Given the description of an element on the screen output the (x, y) to click on. 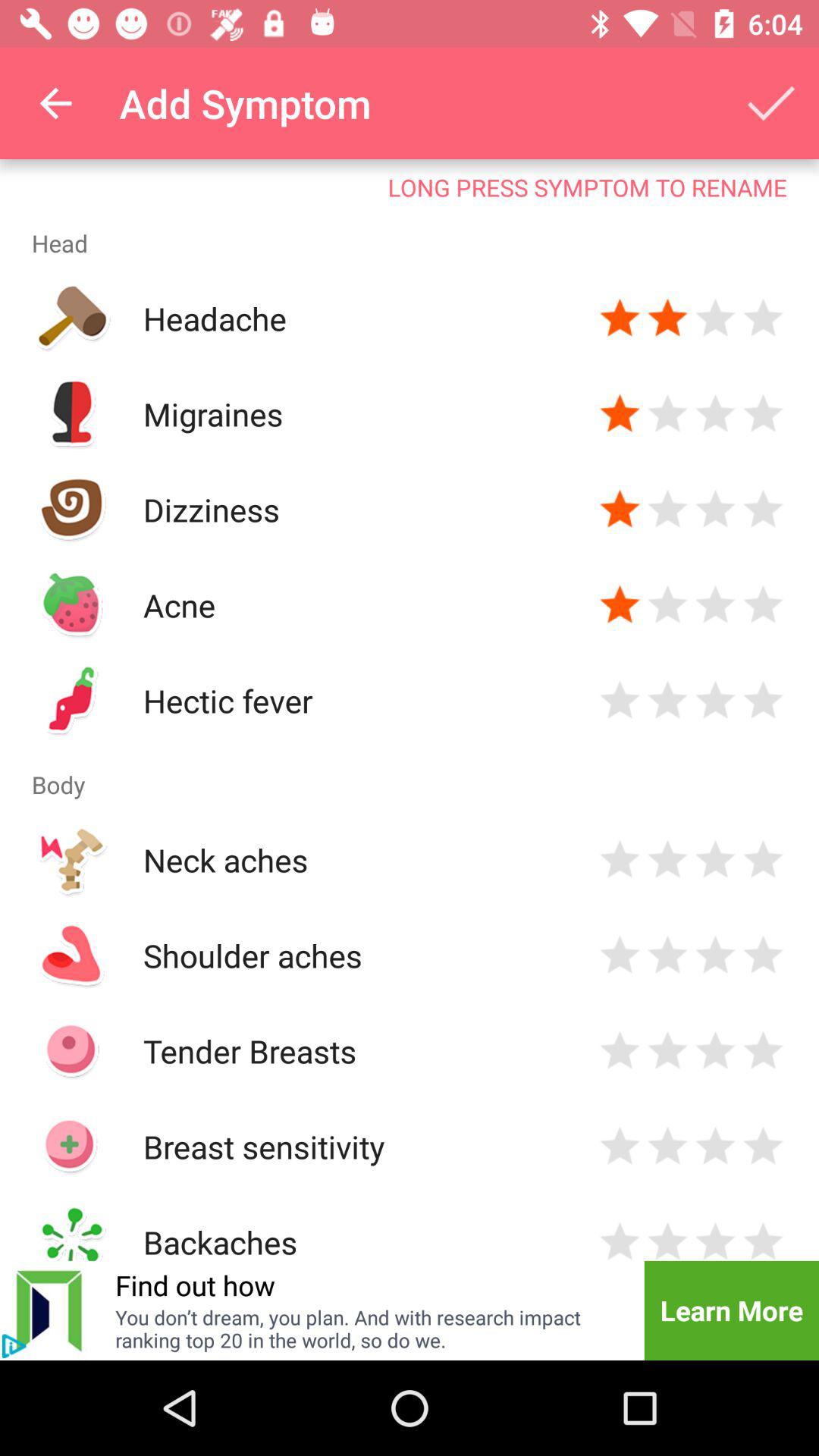
click on advertisement (14, 1346)
